Given the description of an element on the screen output the (x, y) to click on. 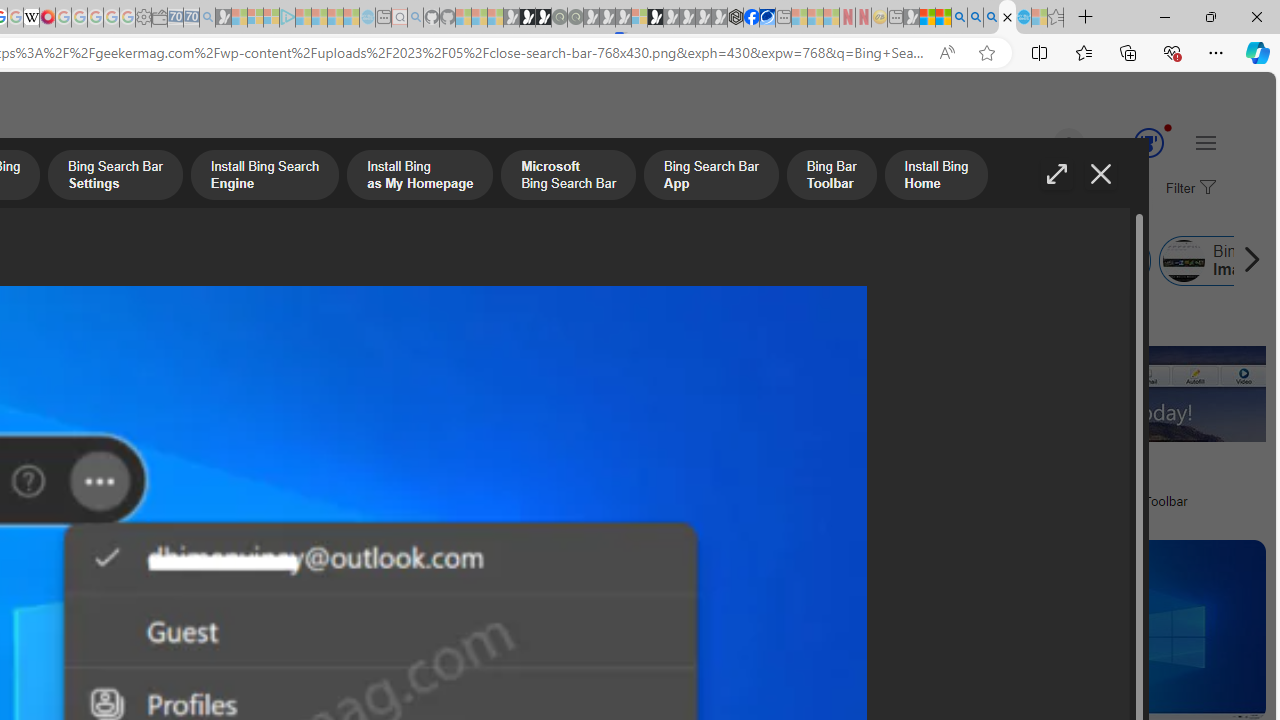
AirNow.gov (767, 17)
Bing Menu Bar (1076, 260)
Bing Search Bar App (376, 260)
Microsoft Bing Search Bar (105, 260)
MediaWiki (47, 17)
Bing Image Search Not Working (1183, 260)
Install Bing Home (727, 260)
